Given the description of an element on the screen output the (x, y) to click on. 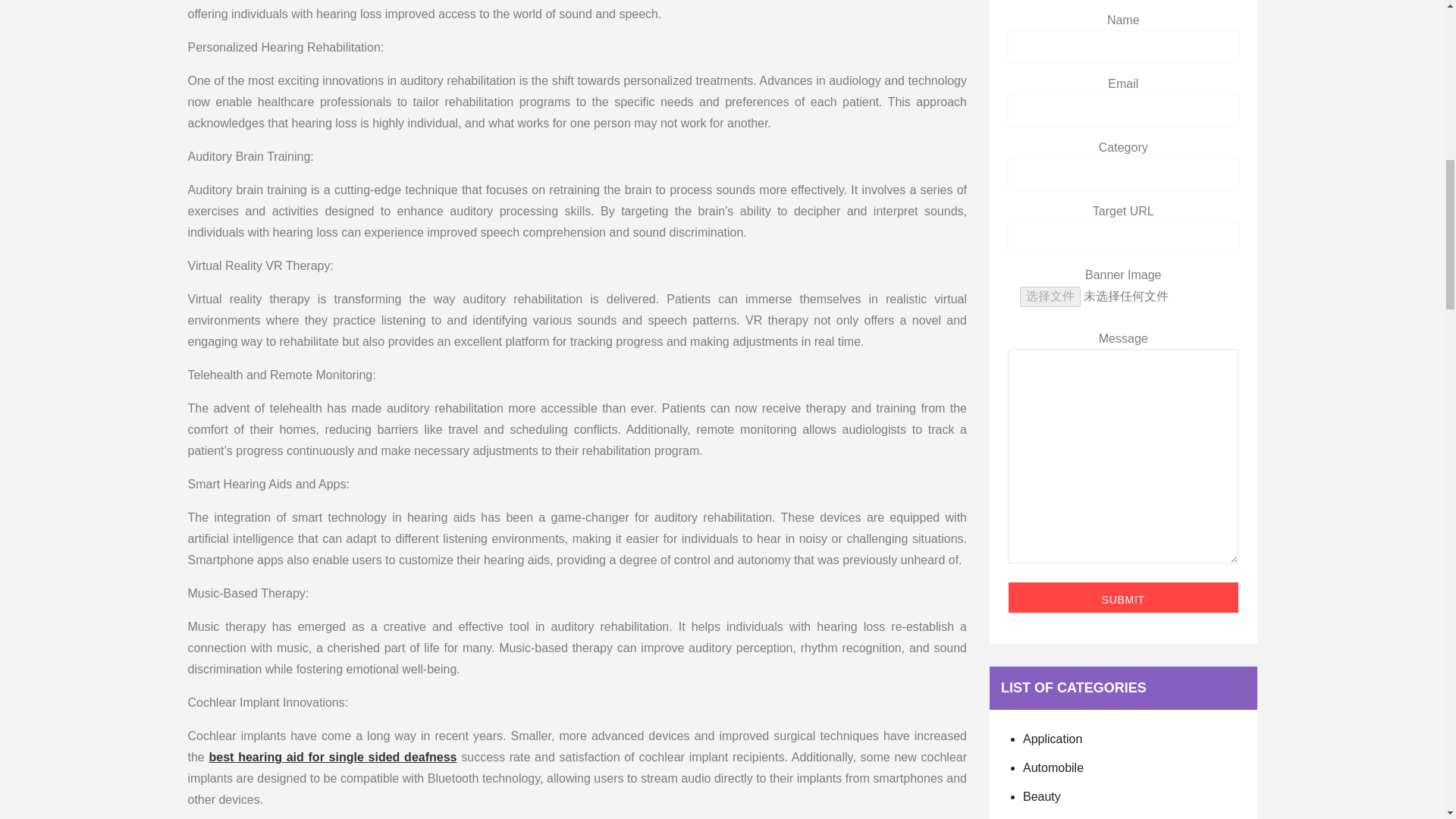
Automobile (1053, 767)
Submit (1124, 597)
best hearing aid for single sided deafness (333, 757)
Beauty (1042, 796)
Submit (1124, 597)
Application (1052, 738)
